Given the description of an element on the screen output the (x, y) to click on. 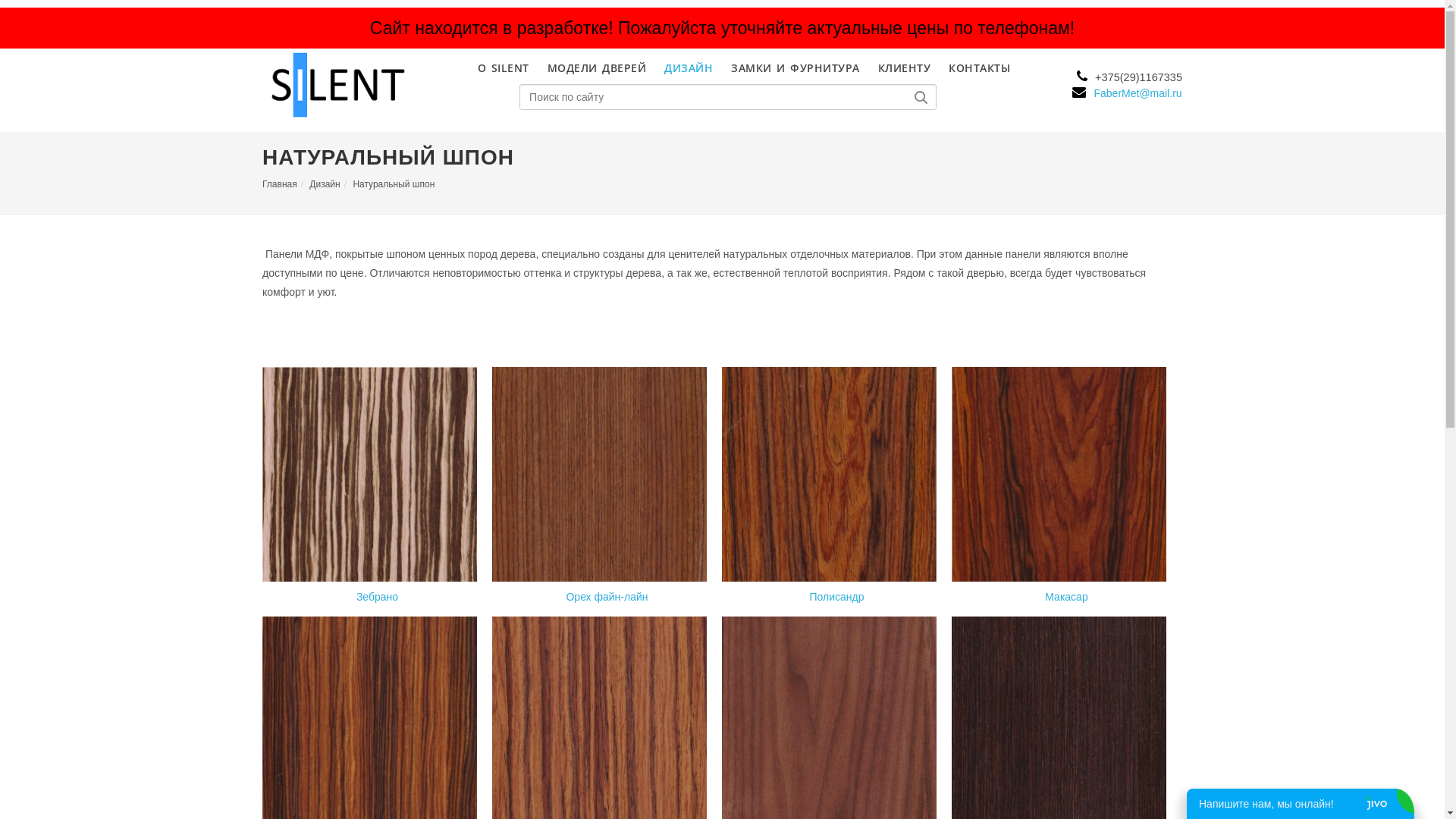
O SILENT Element type: text (503, 67)
FaberMet@mail.ru Element type: text (1126, 93)
+375(29)1167335 Element type: text (1127, 77)
